Given the description of an element on the screen output the (x, y) to click on. 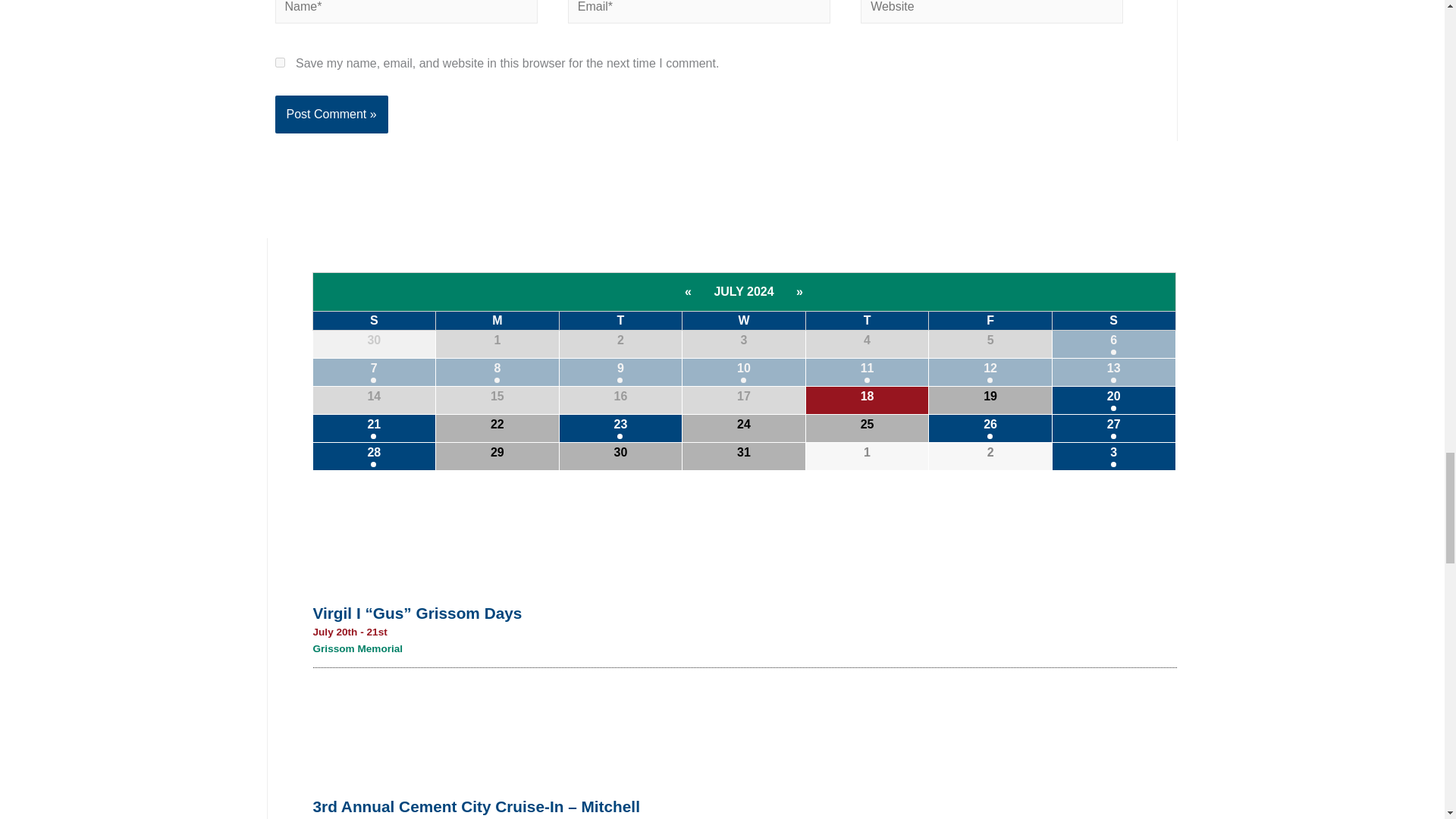
yes (279, 62)
8 (497, 371)
Grissom Memorial (358, 648)
7 (374, 371)
6 (1113, 343)
